Given the description of an element on the screen output the (x, y) to click on. 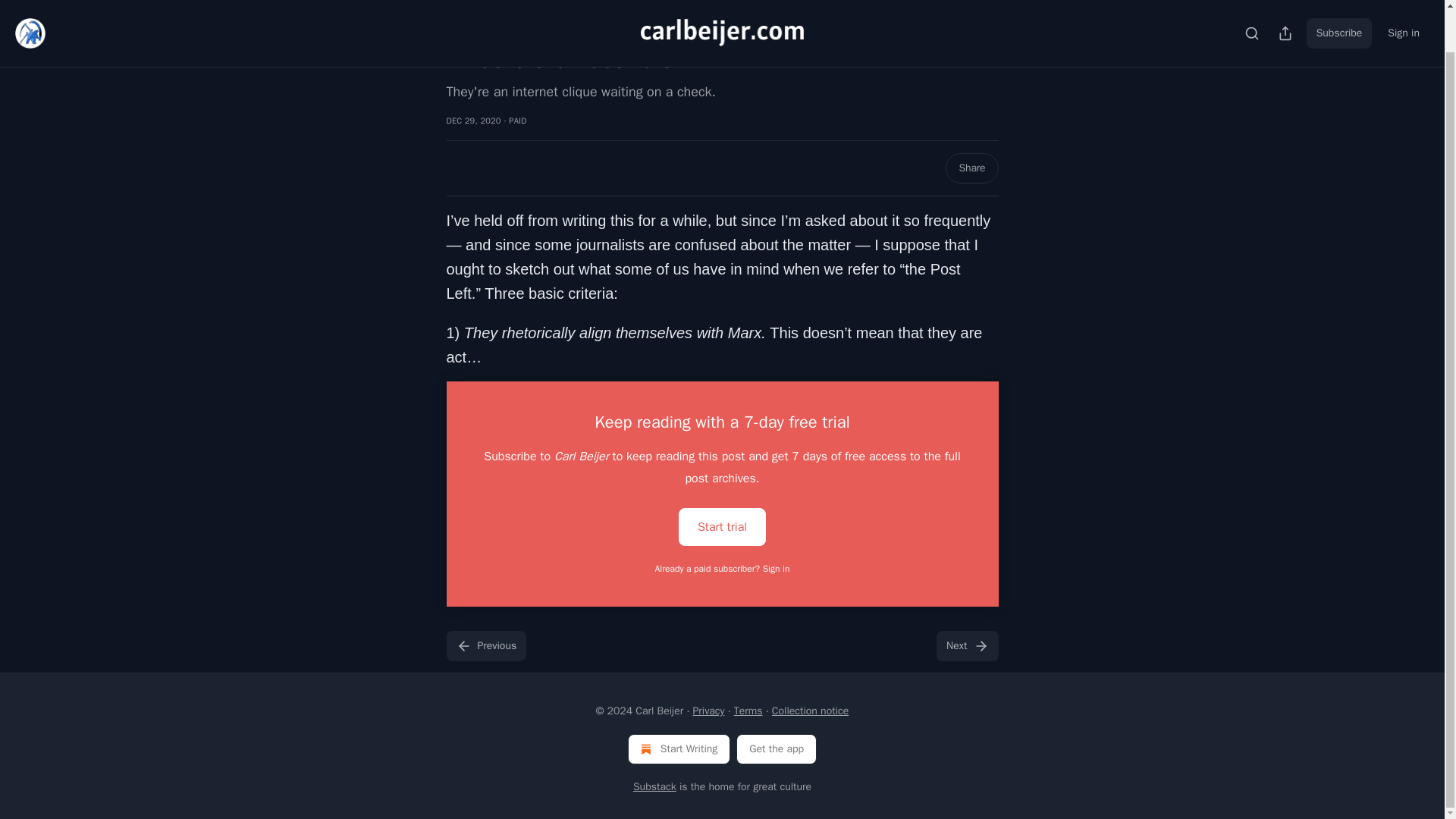
Sign in (1403, 2)
Subscribe (1339, 2)
Substack (655, 786)
Privacy (709, 710)
Terms (747, 710)
Get the app (776, 748)
Start trial (721, 525)
Start trial (721, 526)
Already a paid subscriber? Sign in (722, 568)
Collection notice (809, 710)
